Given the description of an element on the screen output the (x, y) to click on. 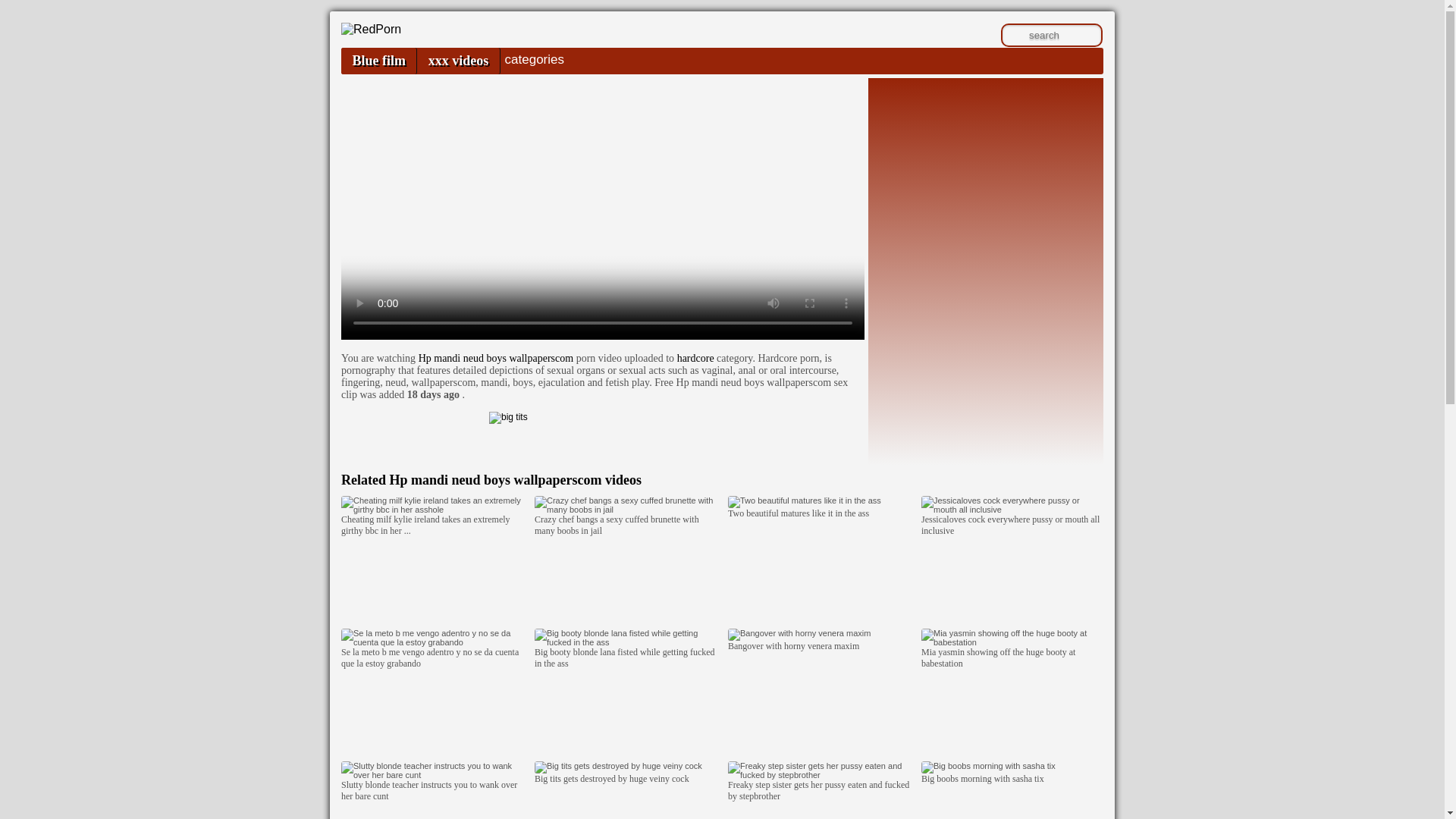
Hp mandi neud boys wallpaperscom (496, 357)
categories (533, 59)
hardcore (695, 357)
tiktok porn (602, 434)
Hp mandi neud boys wallpaperscom (515, 479)
Indian Porn (407, 39)
Blue film (378, 60)
xxx videos (457, 60)
Blue film (378, 60)
Hp mandi neud boys wallpaperscom (496, 357)
